Given the description of an element on the screen output the (x, y) to click on. 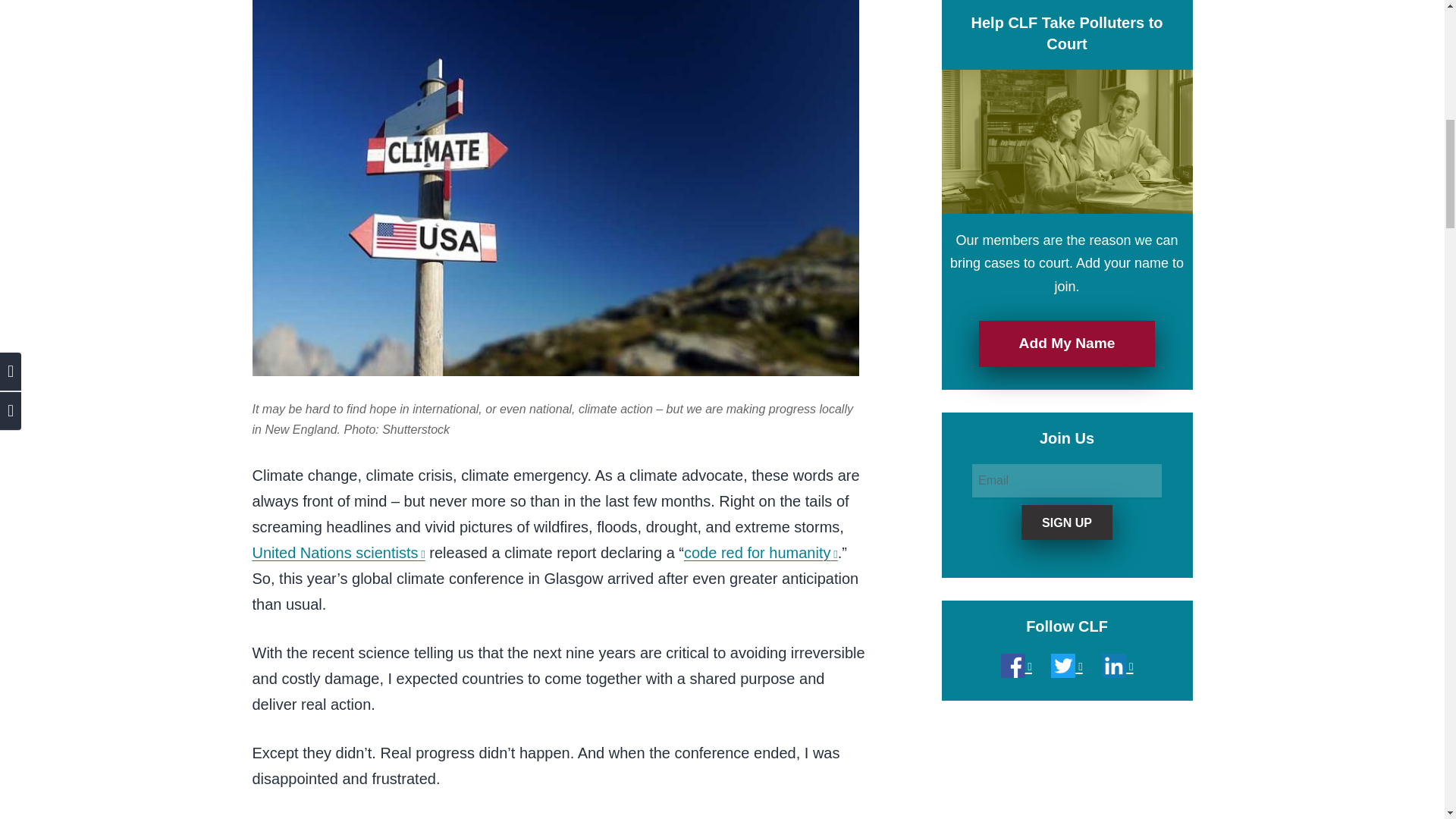
SIGN UP (1067, 522)
